Given the description of an element on the screen output the (x, y) to click on. 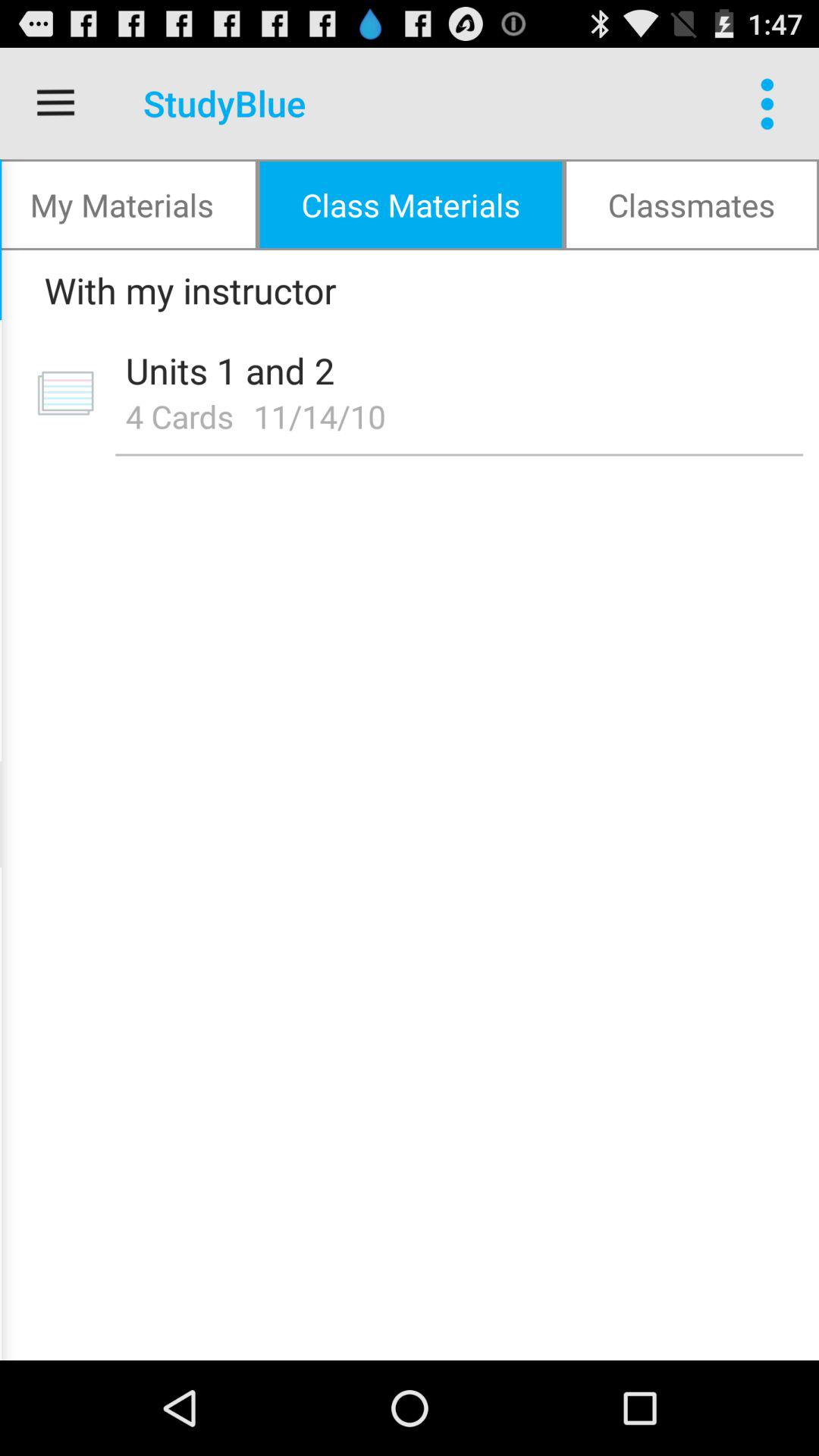
tap the 11/14/10 icon (324, 415)
